Given the description of an element on the screen output the (x, y) to click on. 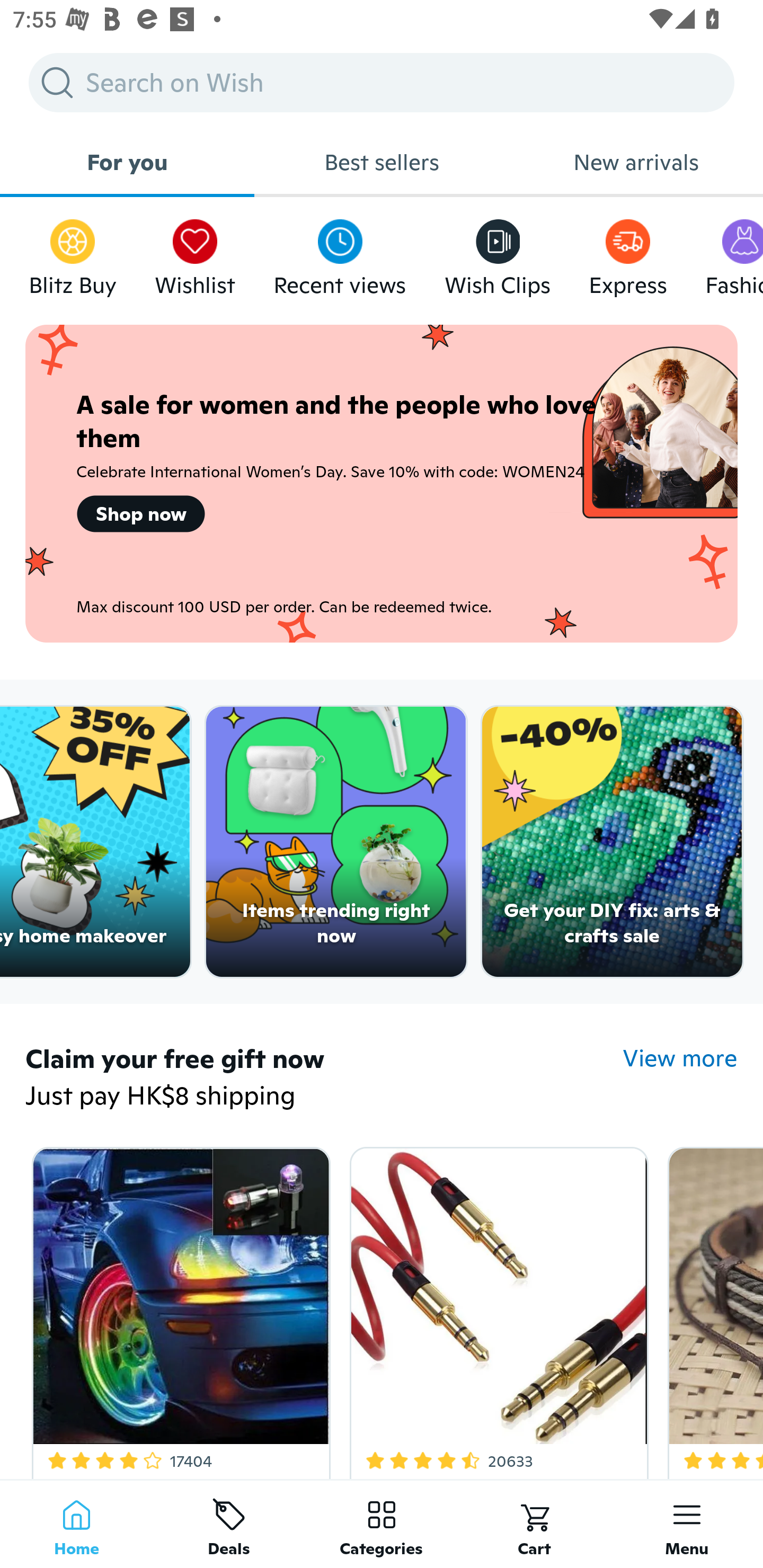
Search on Wish (381, 82)
For you (127, 161)
Best sellers (381, 161)
New arrivals (635, 161)
Blitz Buy (72, 252)
Wishlist (194, 252)
Recent views (339, 252)
Wish Clips (497, 252)
Express (627, 252)
Fashion (734, 252)
Messy home makeover (94, 841)
Items trending right now (336, 841)
Get your DIY fix: arts & crafts sale (612, 841)
Claim your free gift now
Just pay HK$8 shipping (323, 1078)
View more (679, 1058)
3.8 Star Rating 17404 Free (177, 1308)
4.3 Star Rating 20633 Free (495, 1308)
Home (76, 1523)
Deals (228, 1523)
Categories (381, 1523)
Cart (533, 1523)
Menu (686, 1523)
